Given the description of an element on the screen output the (x, y) to click on. 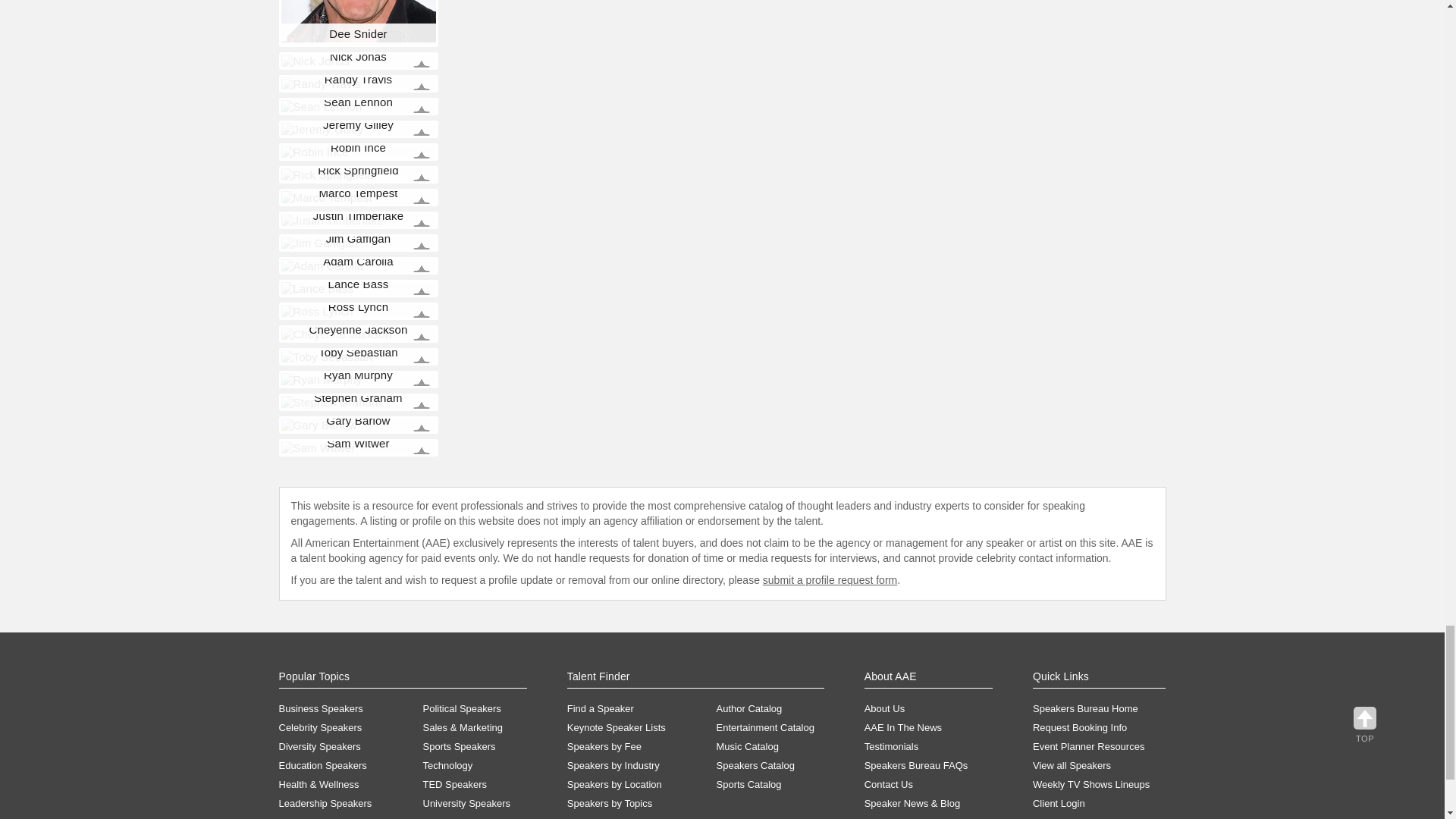
Randy Travis (320, 83)
Dee Snider (358, 21)
Nick Jonas (315, 60)
